Given the description of an element on the screen output the (x, y) to click on. 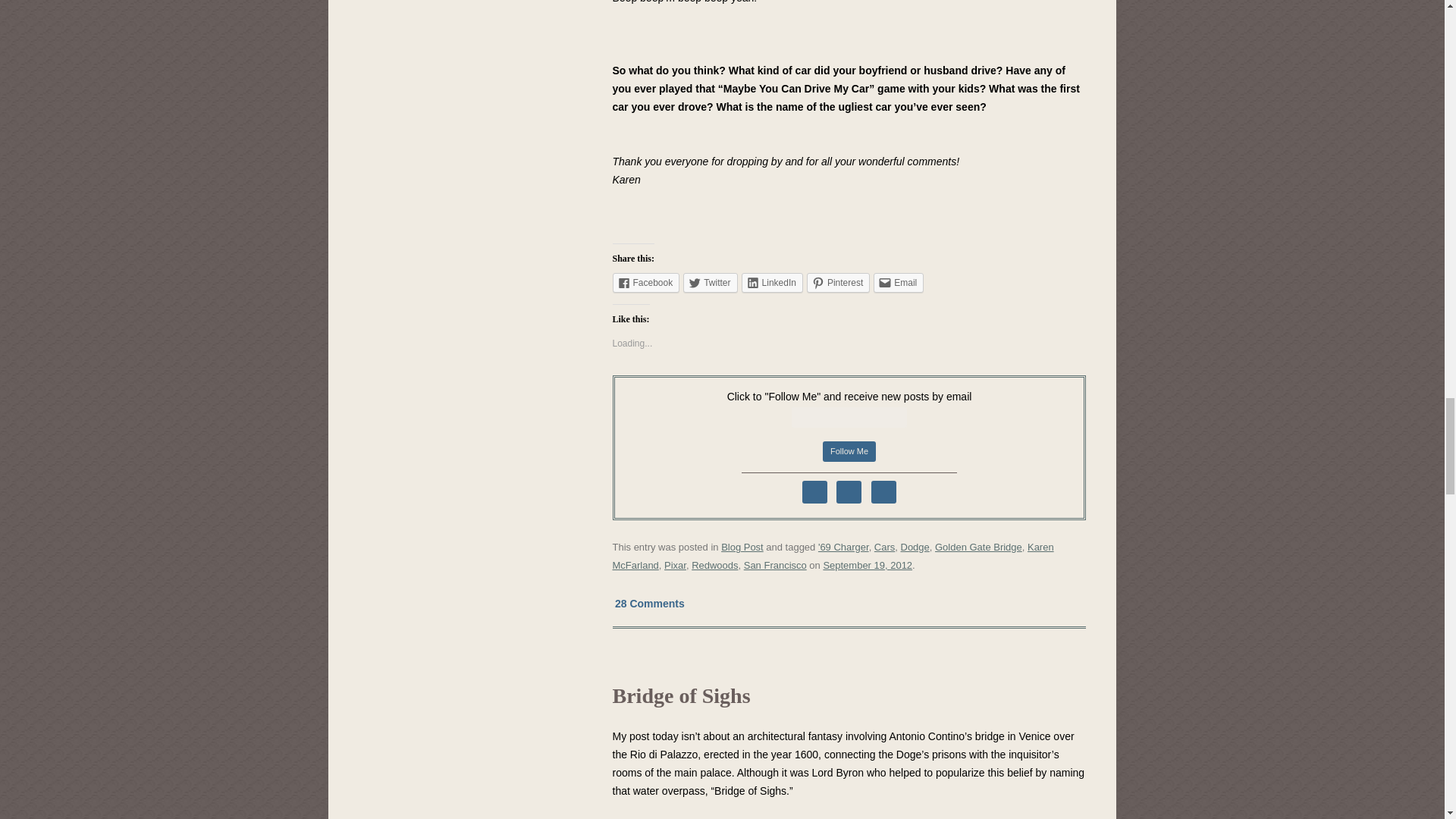
Click to share on LinkedIn (772, 282)
Dodge (915, 546)
Linked In (883, 491)
Golden Gate Bridge (978, 546)
Email (898, 282)
Click to email this to a friend (898, 282)
1:00 am (867, 564)
28 Comments (649, 602)
Redwoods (714, 564)
Blog Post (741, 546)
Click to share on Pinterest (837, 282)
Facebook (645, 282)
Click to share on Facebook (645, 282)
Follow Me (849, 451)
'69 Charger (843, 546)
